Given the description of an element on the screen output the (x, y) to click on. 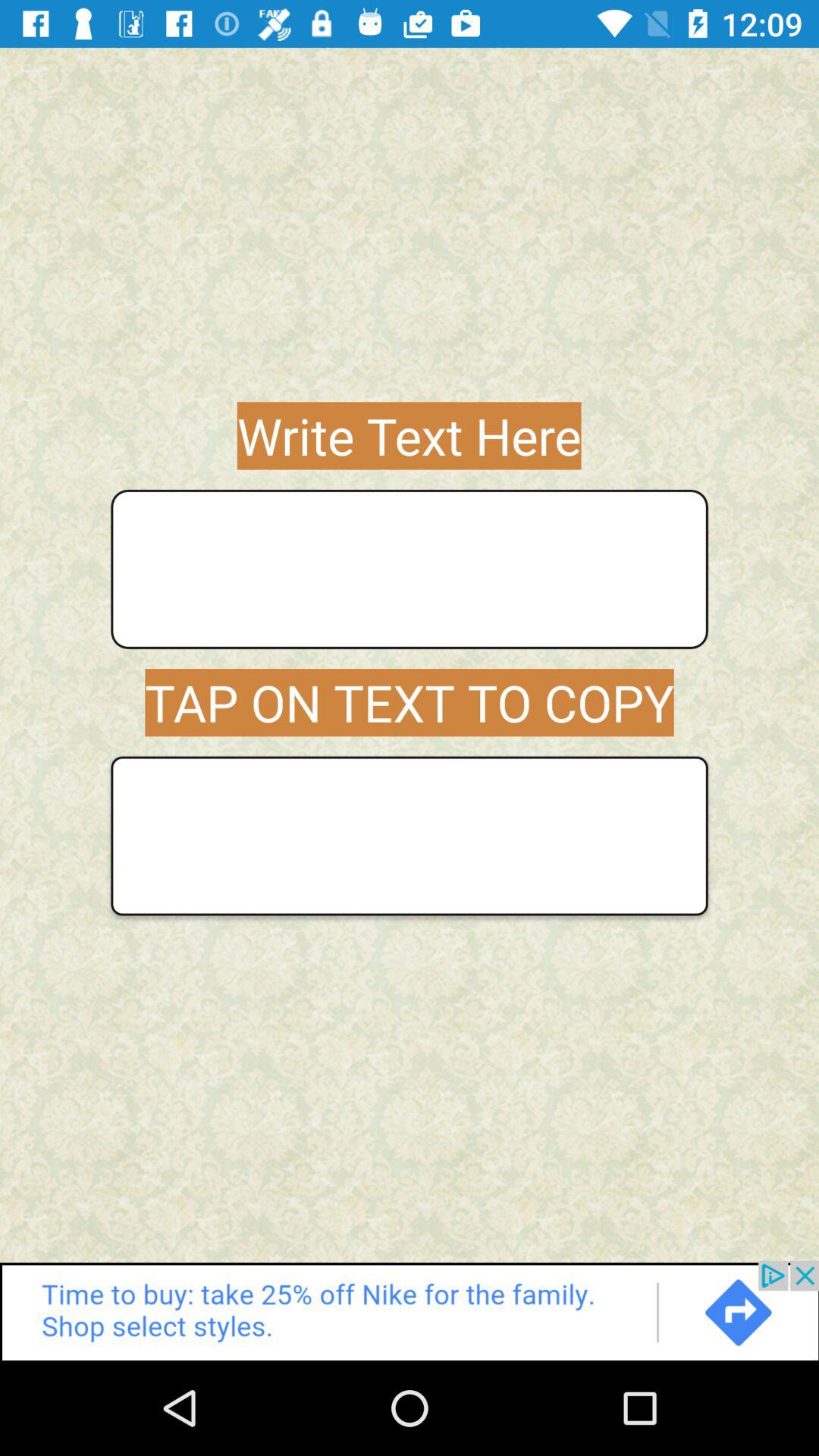
tap on text to copy (409, 835)
